Given the description of an element on the screen output the (x, y) to click on. 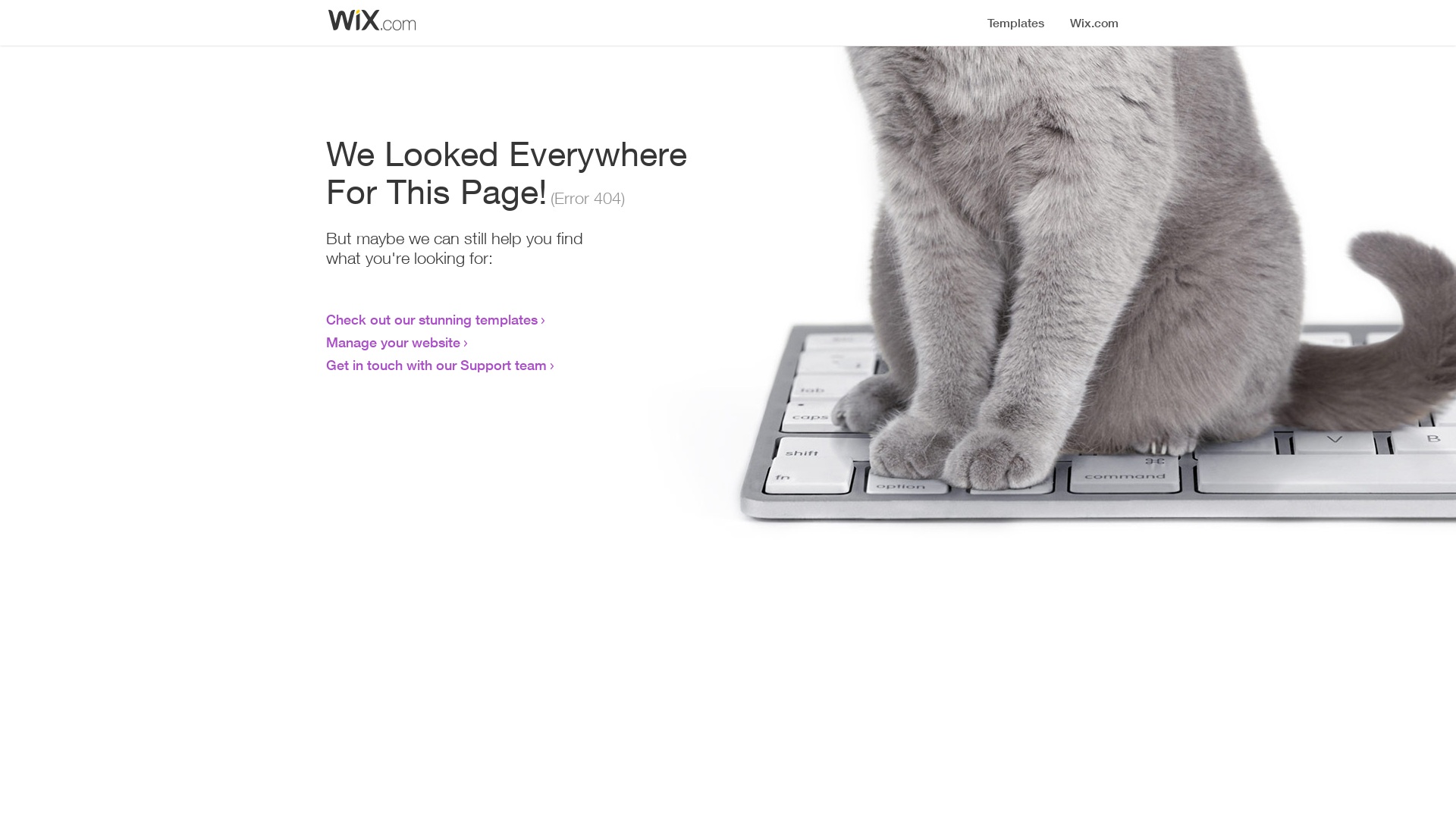
Manage your website Element type: text (393, 341)
Check out our stunning templates Element type: text (431, 318)
Get in touch with our Support team Element type: text (436, 364)
